Given the description of an element on the screen output the (x, y) to click on. 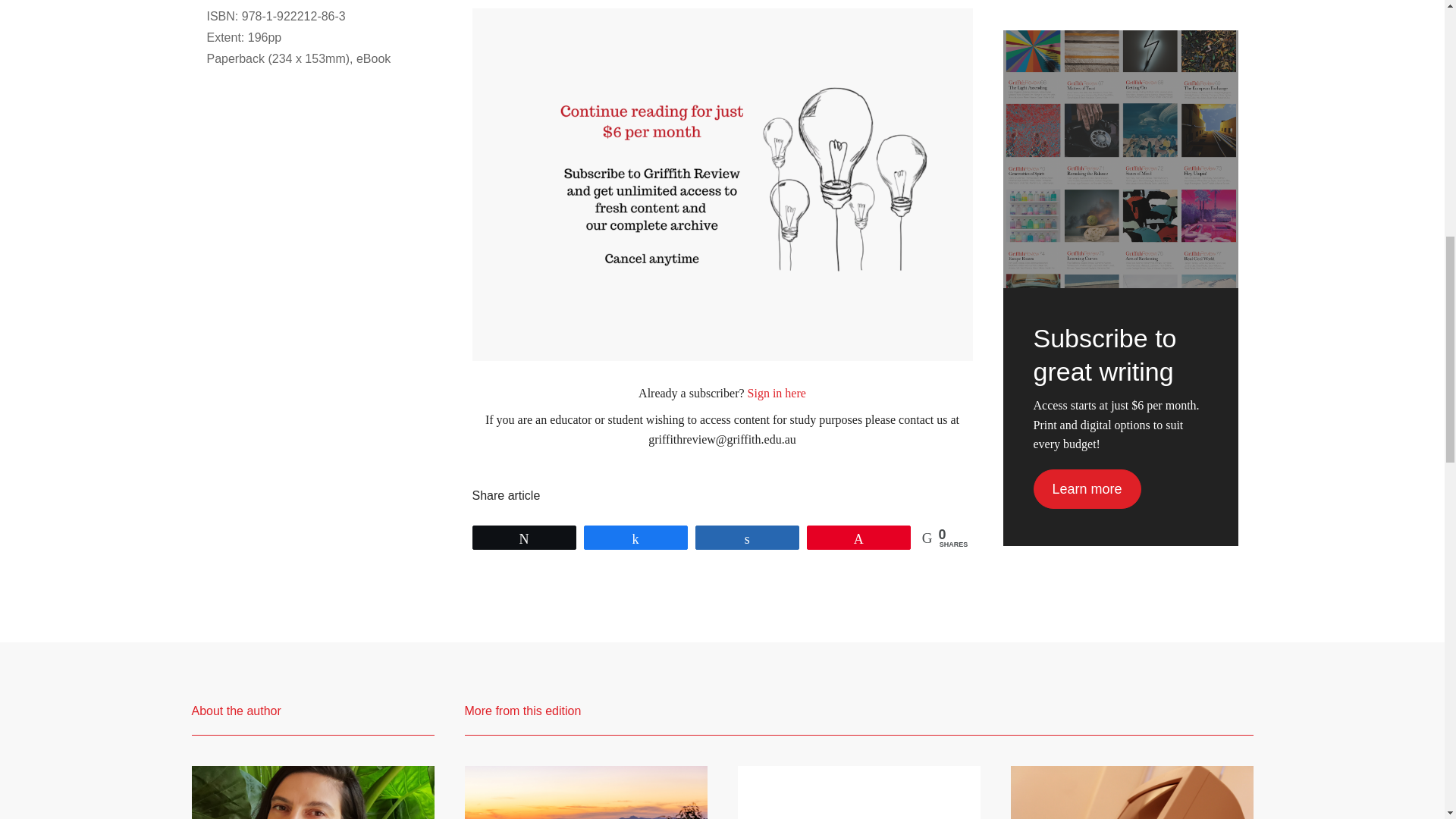
Sign in here (777, 392)
